Given the description of an element on the screen output the (x, y) to click on. 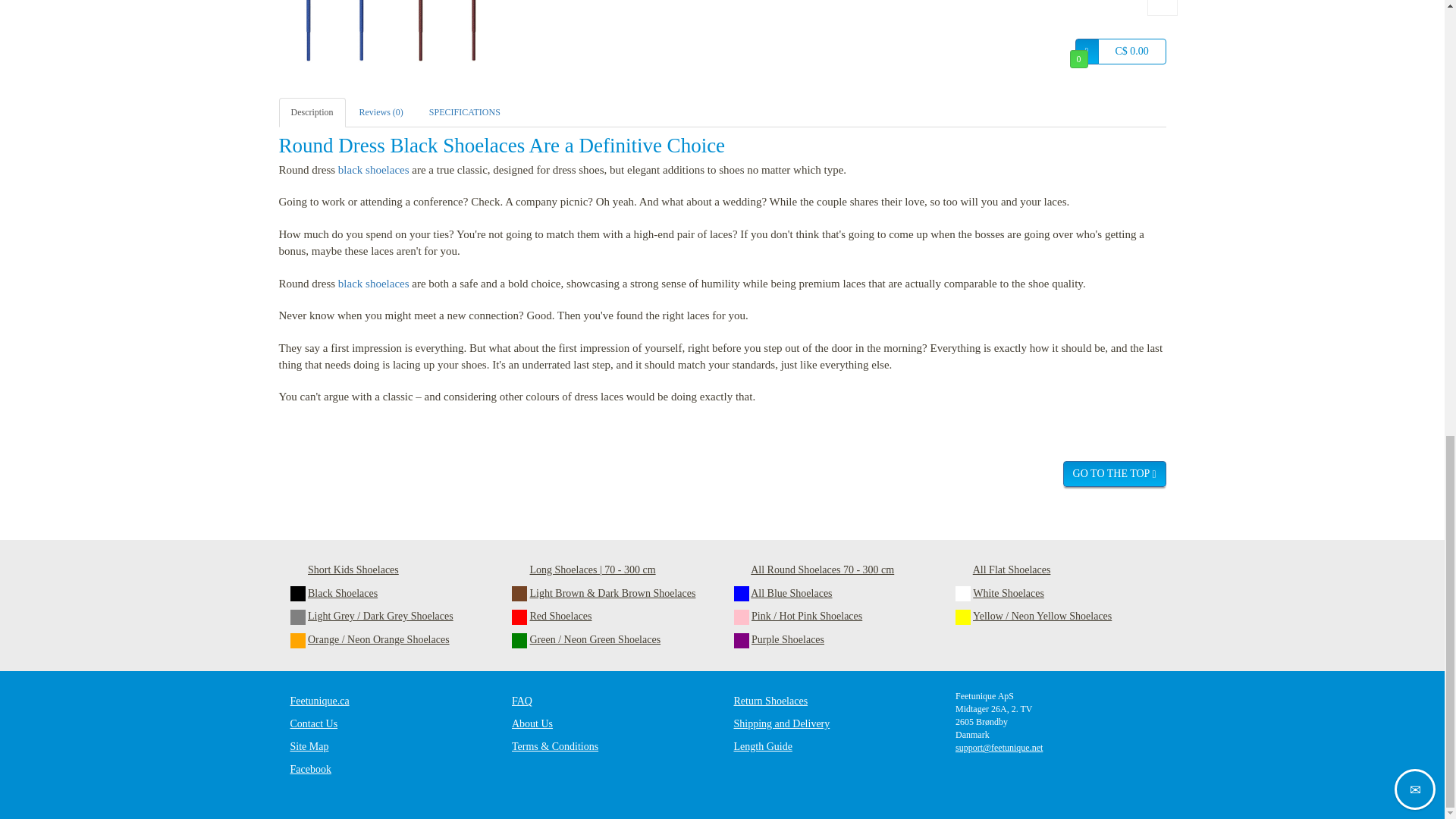
round red dress shoelaces (671, 35)
round dress blue shoelaces (335, 35)
Round dress brown shoelaces (447, 35)
round beige dress shoelaces (784, 35)
round navy blue dress shoelaces (559, 35)
